Given the description of an element on the screen output the (x, y) to click on. 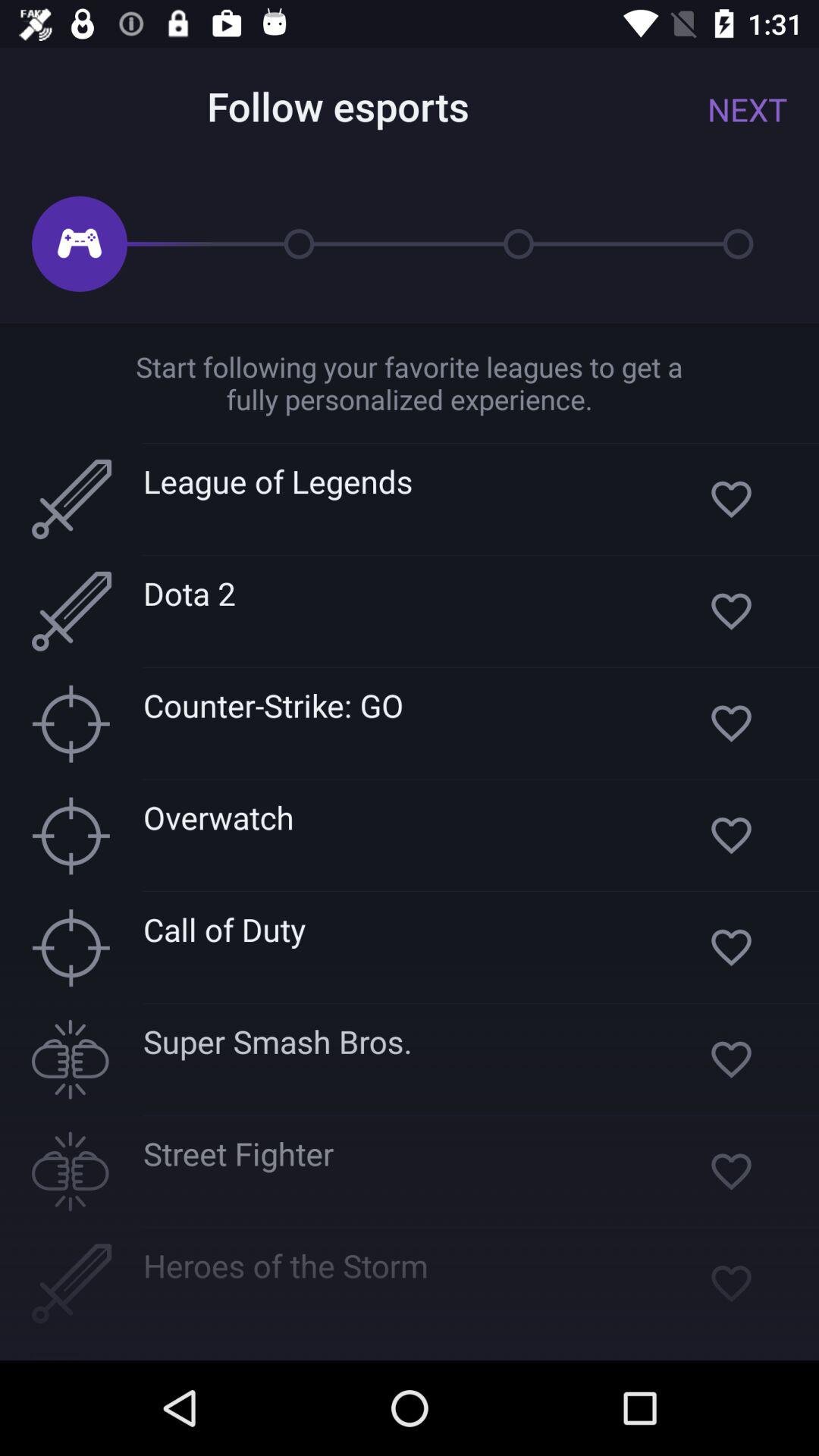
click on heart symbol which is on right side of super smash bros (731, 1059)
click the box beside league (71, 499)
click the heart icon at right side of dota 2 (731, 611)
select favorite icon which is after call of duty (731, 947)
click the icon at left side of the heroes of the storm (71, 1283)
